Given the description of an element on the screen output the (x, y) to click on. 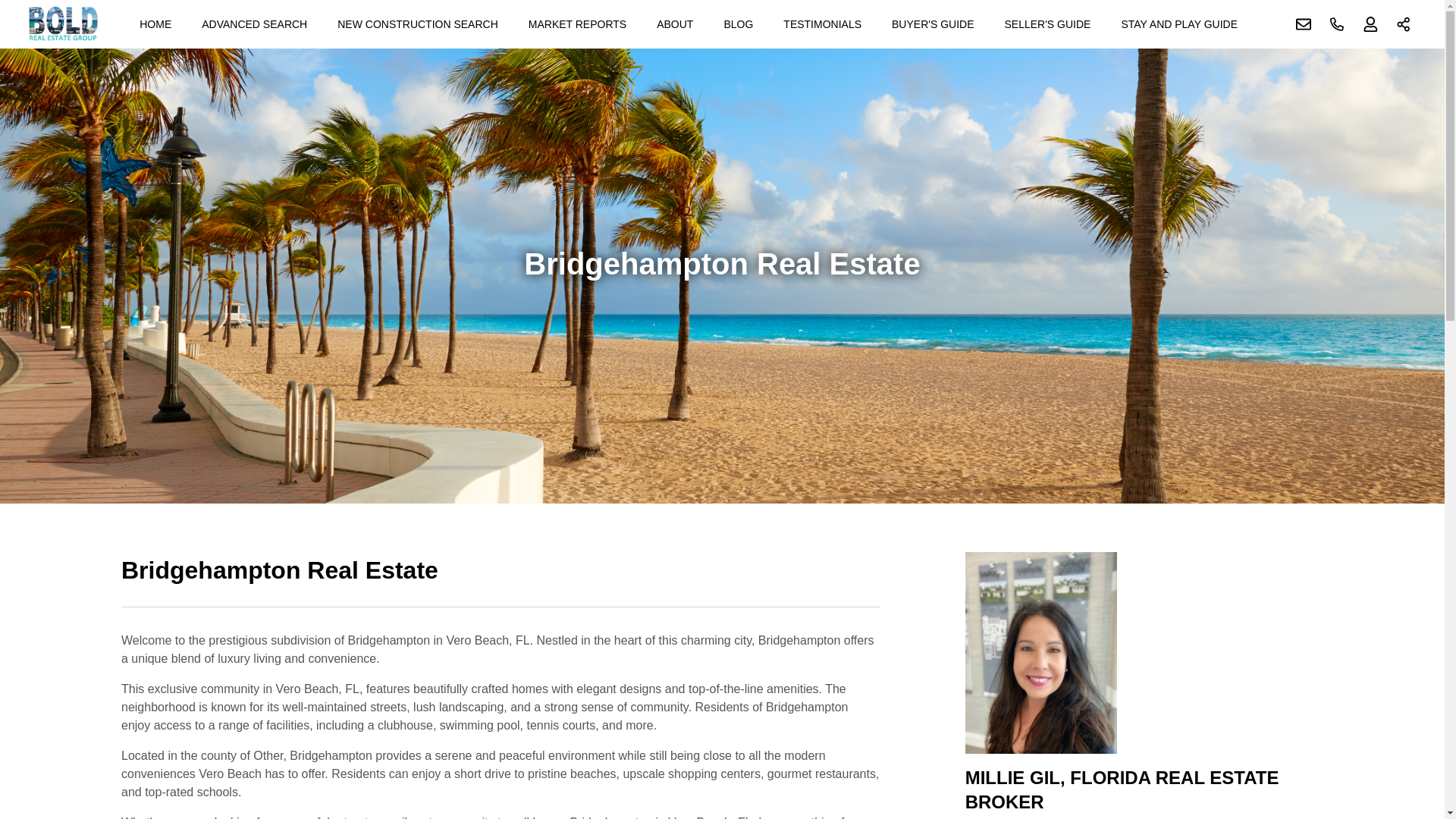
BUYER'S GUIDE (932, 24)
Bridgehampton Real Estate (500, 579)
ABOUT (674, 24)
MARKET REPORTS (576, 24)
ADVANCED SEARCH (253, 24)
NEW CONSTRUCTION SEARCH (417, 24)
Sign up or Sign in (1370, 23)
Share (1404, 23)
Contact us (1303, 23)
Boldrealestategroup.com (61, 24)
